Given the description of an element on the screen output the (x, y) to click on. 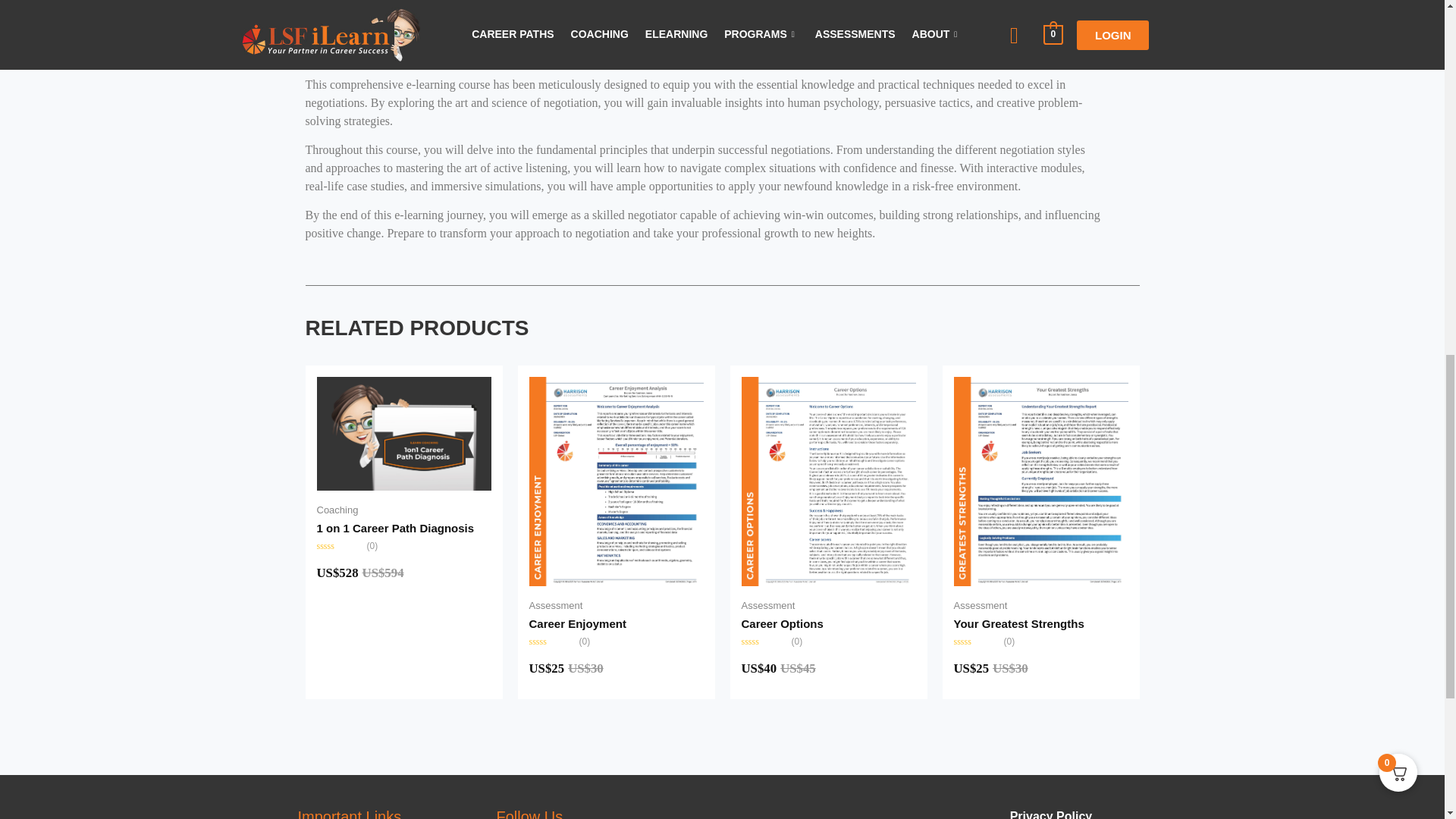
Product Category (337, 509)
View Product Full Details (395, 527)
View Product Full Details (616, 480)
Product Category (556, 605)
View Product Full Details (404, 431)
View Product Full Details (828, 480)
View Product Full Details (577, 623)
